Given the description of an element on the screen output the (x, y) to click on. 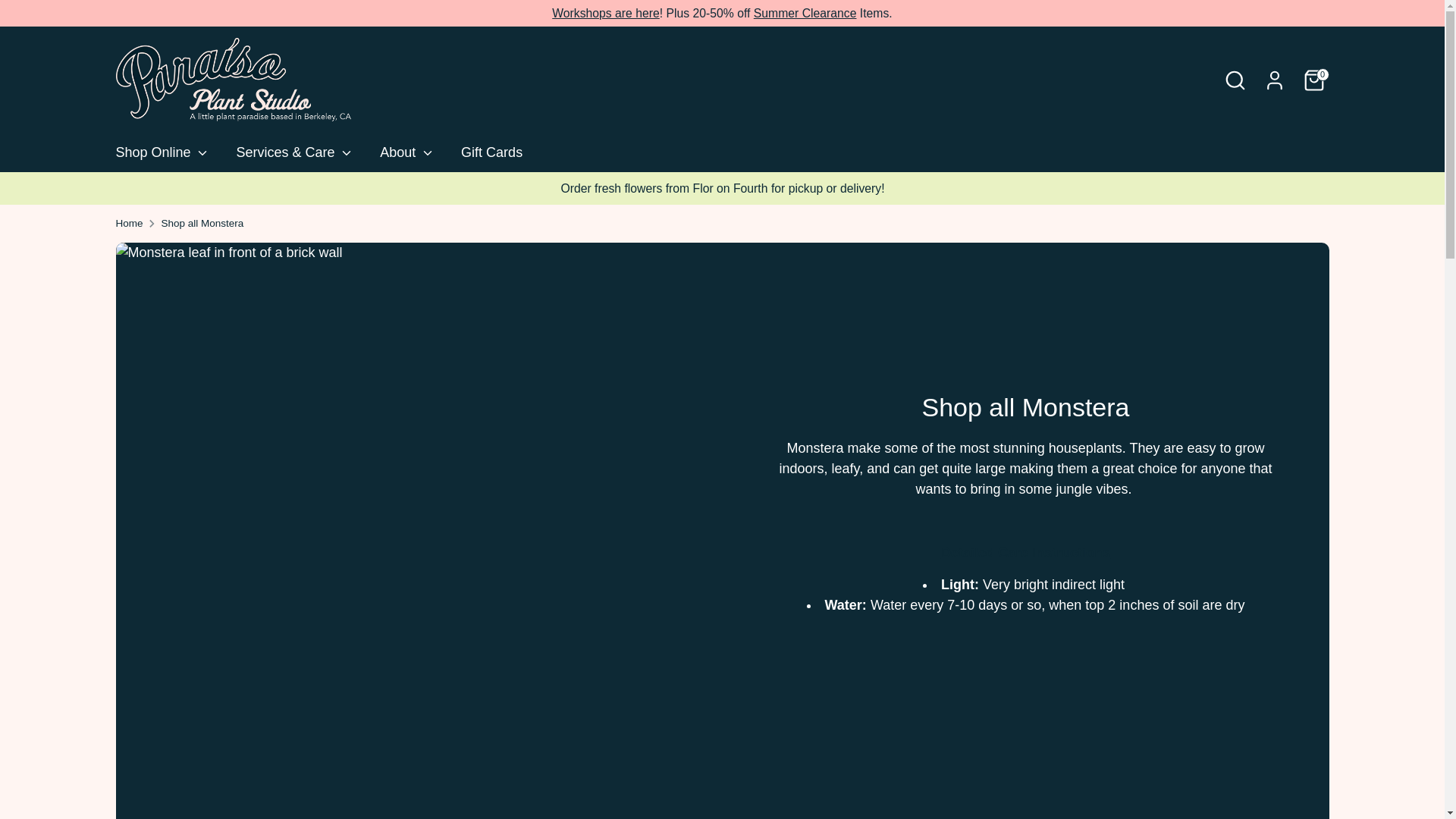
Workshops are here (605, 12)
Workshops (605, 12)
Search (1234, 80)
Summer Clearance Sale (805, 12)
0 (1312, 80)
Summer Clearance (805, 12)
